Given the description of an element on the screen output the (x, y) to click on. 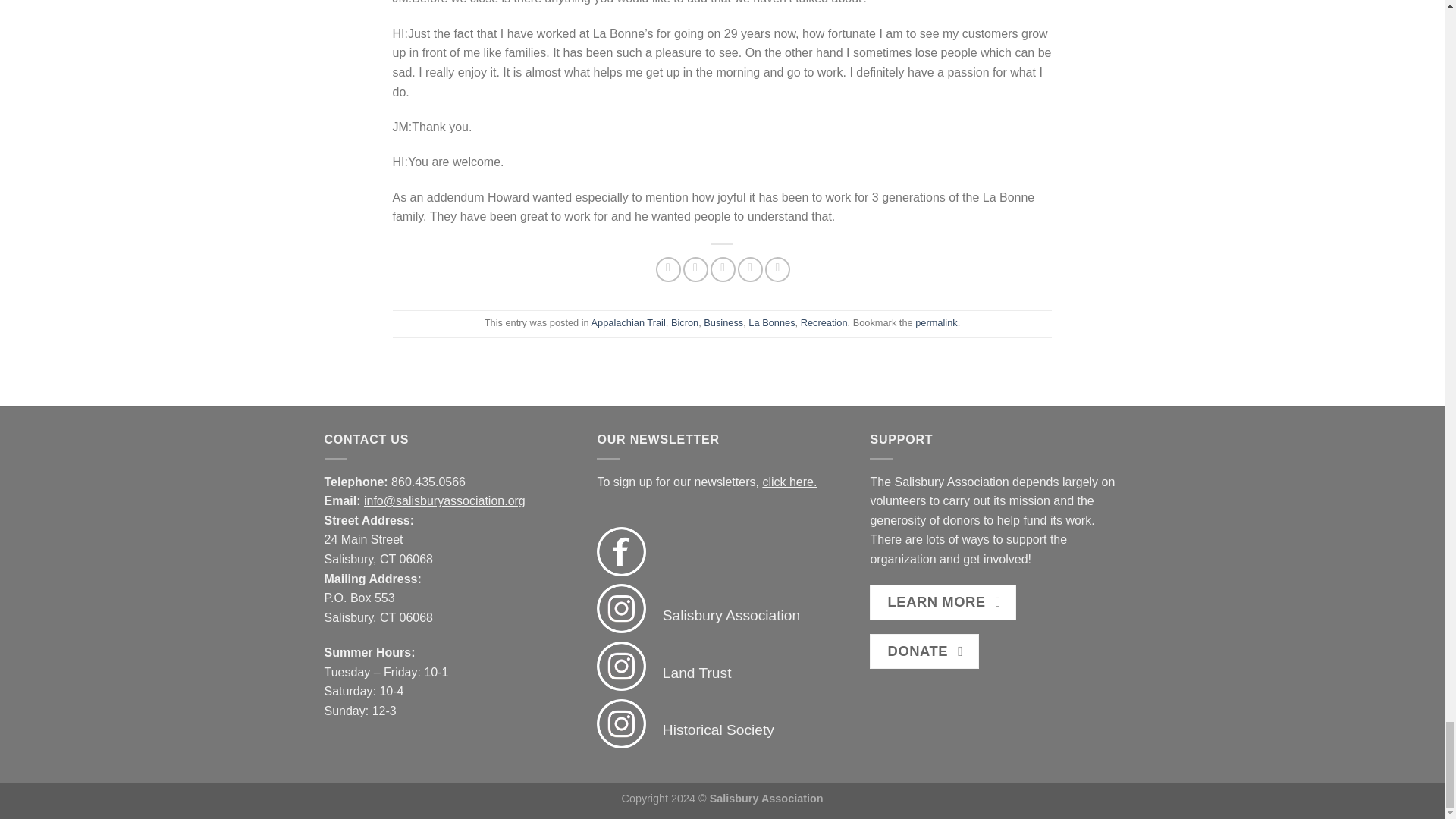
Share on Twitter (694, 269)
Share on Facebook (668, 269)
Pin on Pinterest (750, 269)
Permalink to Ives, Howard (935, 322)
Share on LinkedIn (777, 269)
Email to a Friend (722, 269)
